Given the description of an element on the screen output the (x, y) to click on. 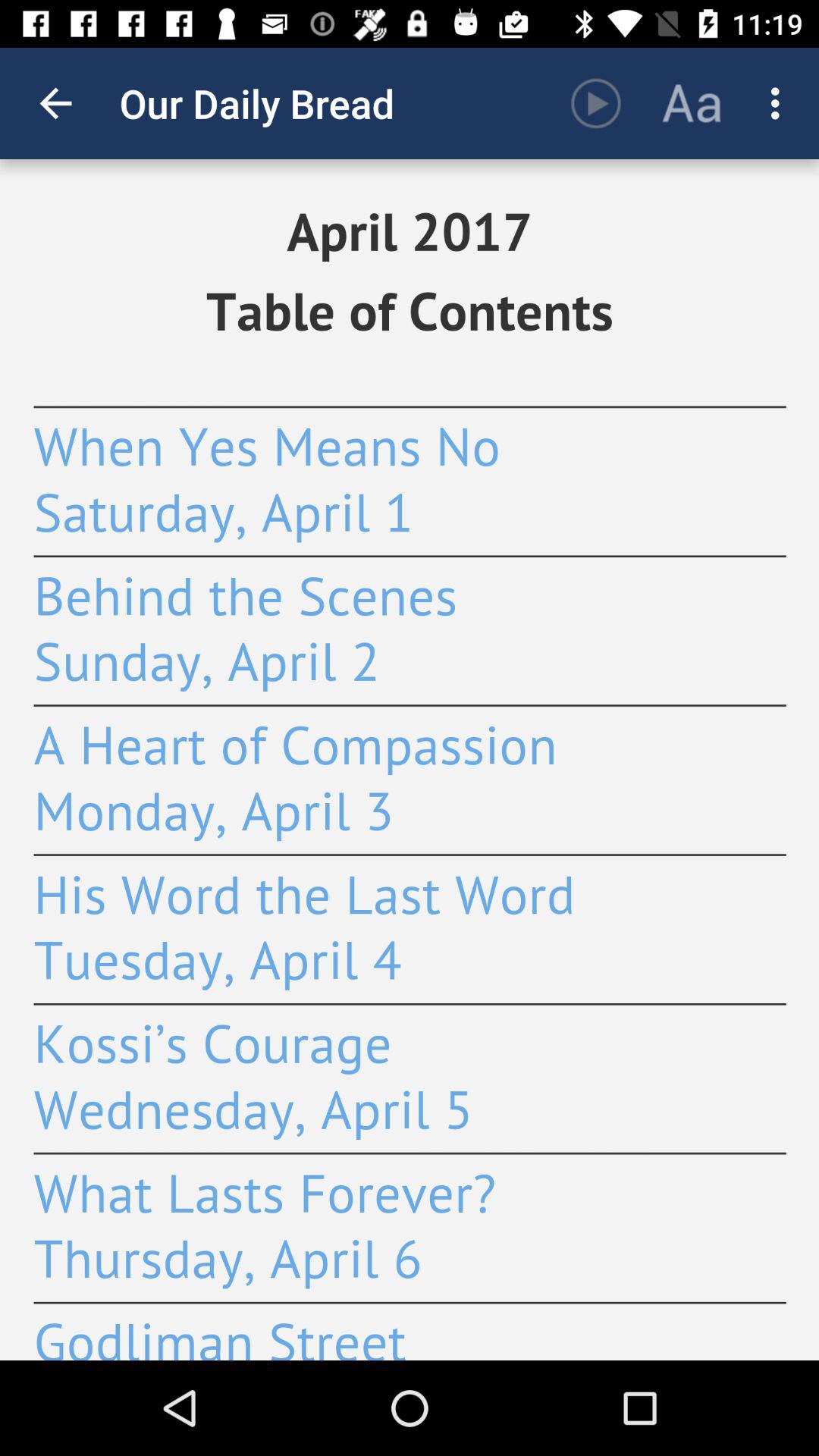
select the icon next to the our daily bread item (55, 103)
